Given the description of an element on the screen output the (x, y) to click on. 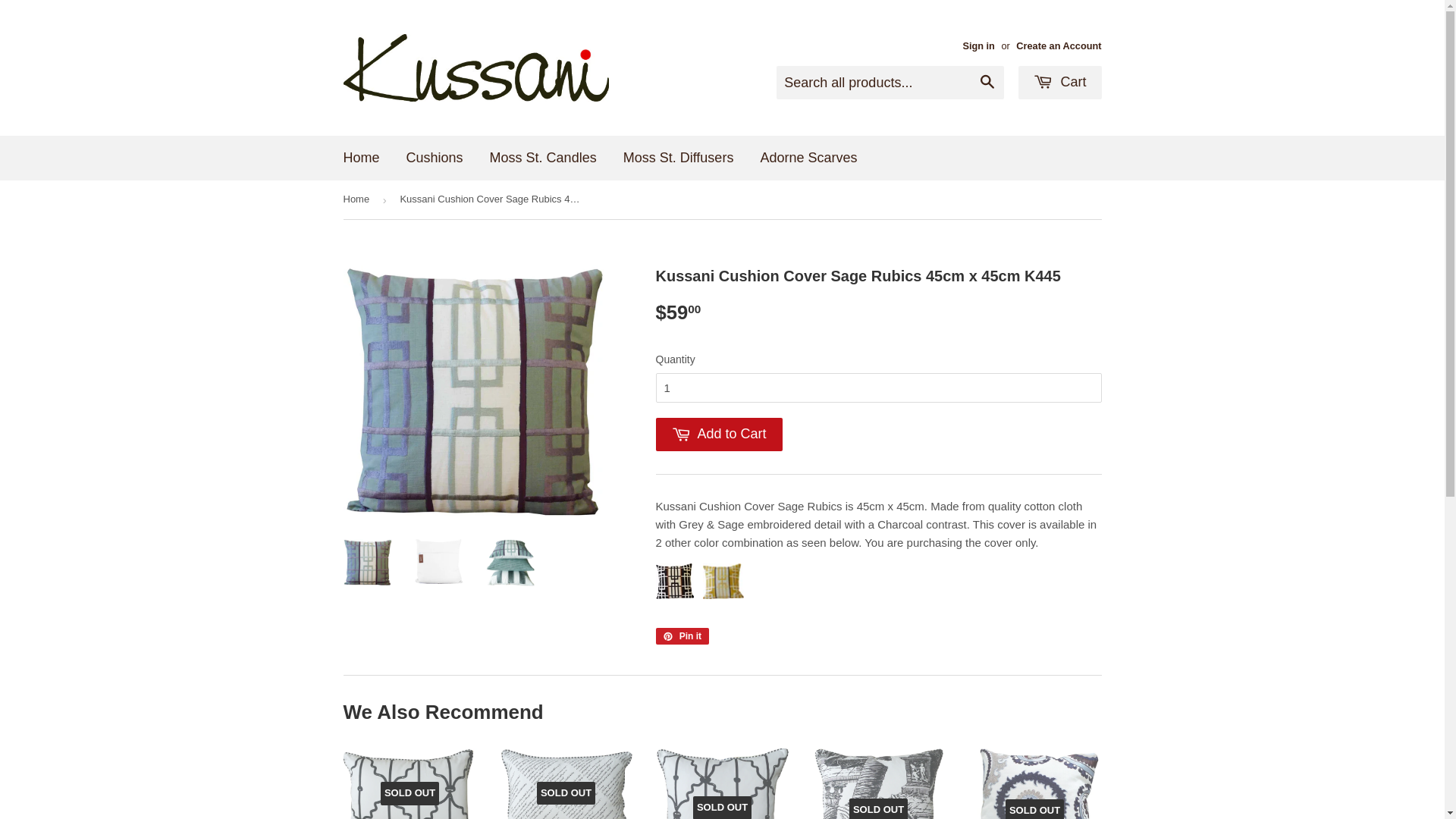
kussani-cushion-cover-black-rubics-45cm-x-45cm-k444 Element type: hover (674, 594)
Cart Element type: text (1059, 82)
Moss St. Candles Element type: text (543, 157)
Adorne Scarves Element type: text (808, 157)
Home Element type: text (358, 199)
Pin it Element type: text (682, 635)
Add to Cart Element type: text (718, 434)
Moss St. Diffusers Element type: text (678, 157)
Search Element type: text (986, 83)
kussani-cushion-cover-mustard-rubics-45cm-x-45cm-k446 Element type: hover (722, 594)
Cushions Element type: text (434, 157)
Sign in Element type: text (978, 45)
Create an Account Element type: text (1058, 45)
Home Element type: text (361, 157)
